Given the description of an element on the screen output the (x, y) to click on. 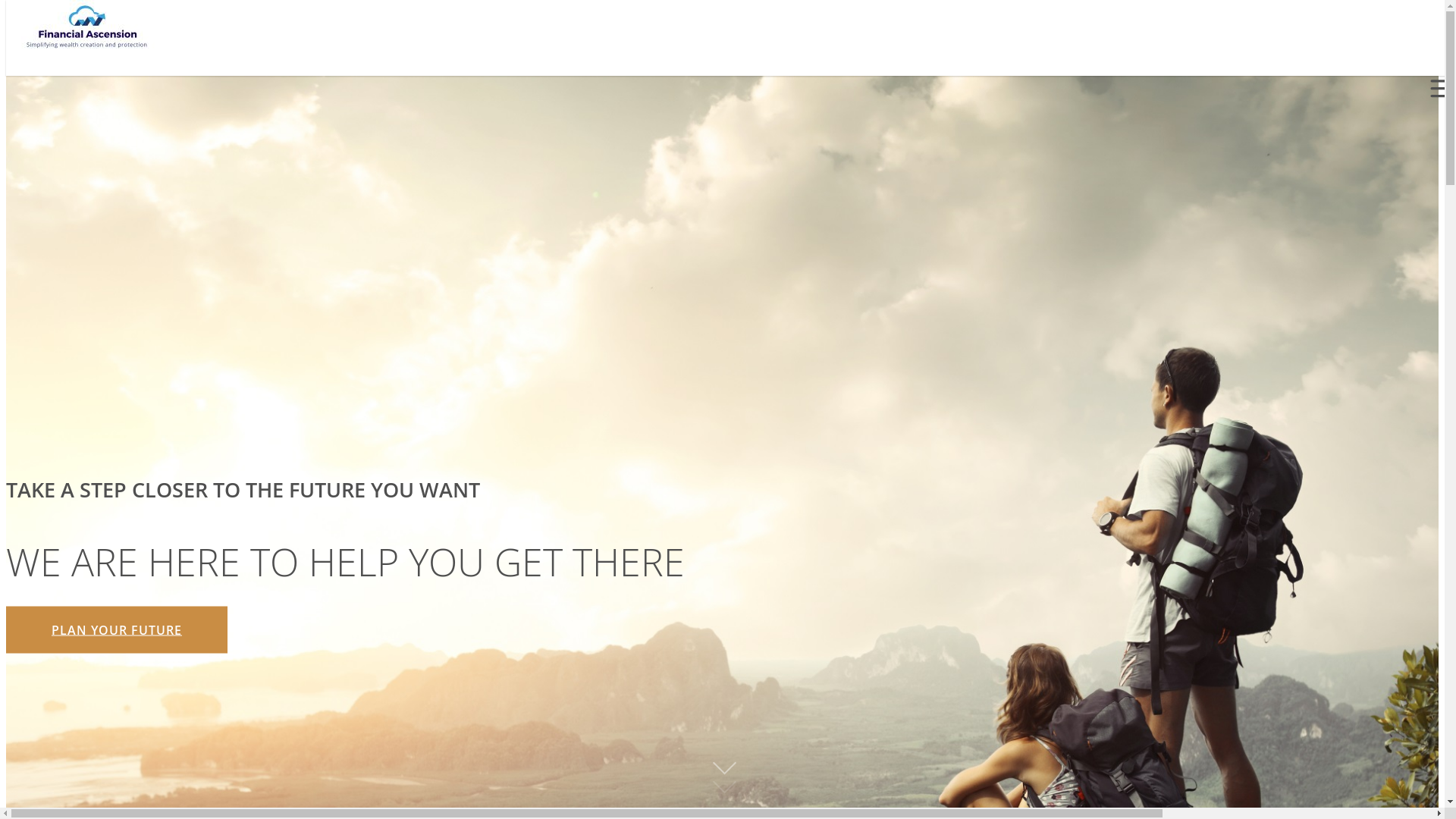
PLAN YOUR FUTURE Element type: text (116, 628)
